Given the description of an element on the screen output the (x, y) to click on. 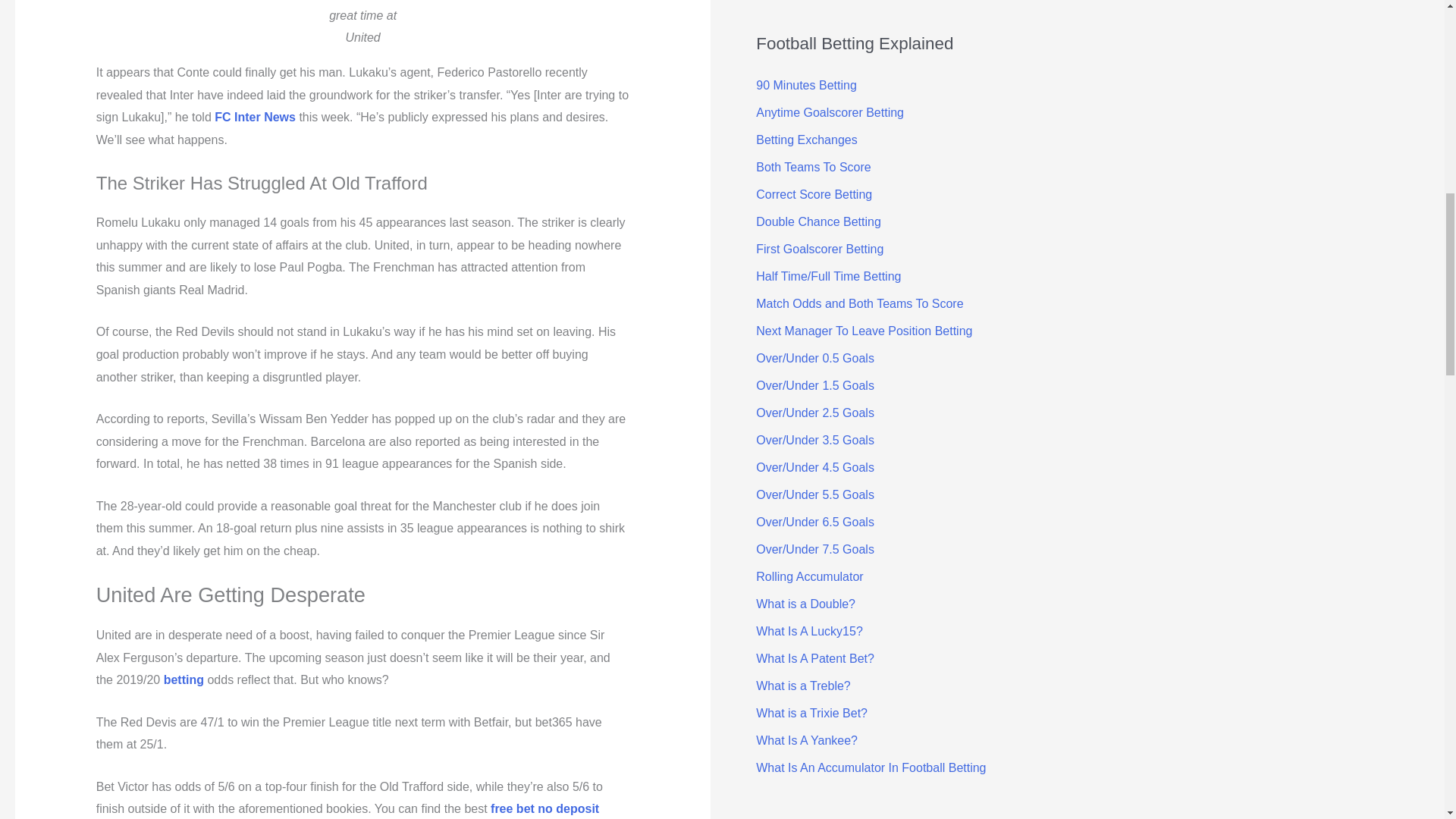
How Anytime Goalscorer Betting Works (829, 112)
Correct Score Betting Explained (813, 194)
